Given the description of an element on the screen output the (x, y) to click on. 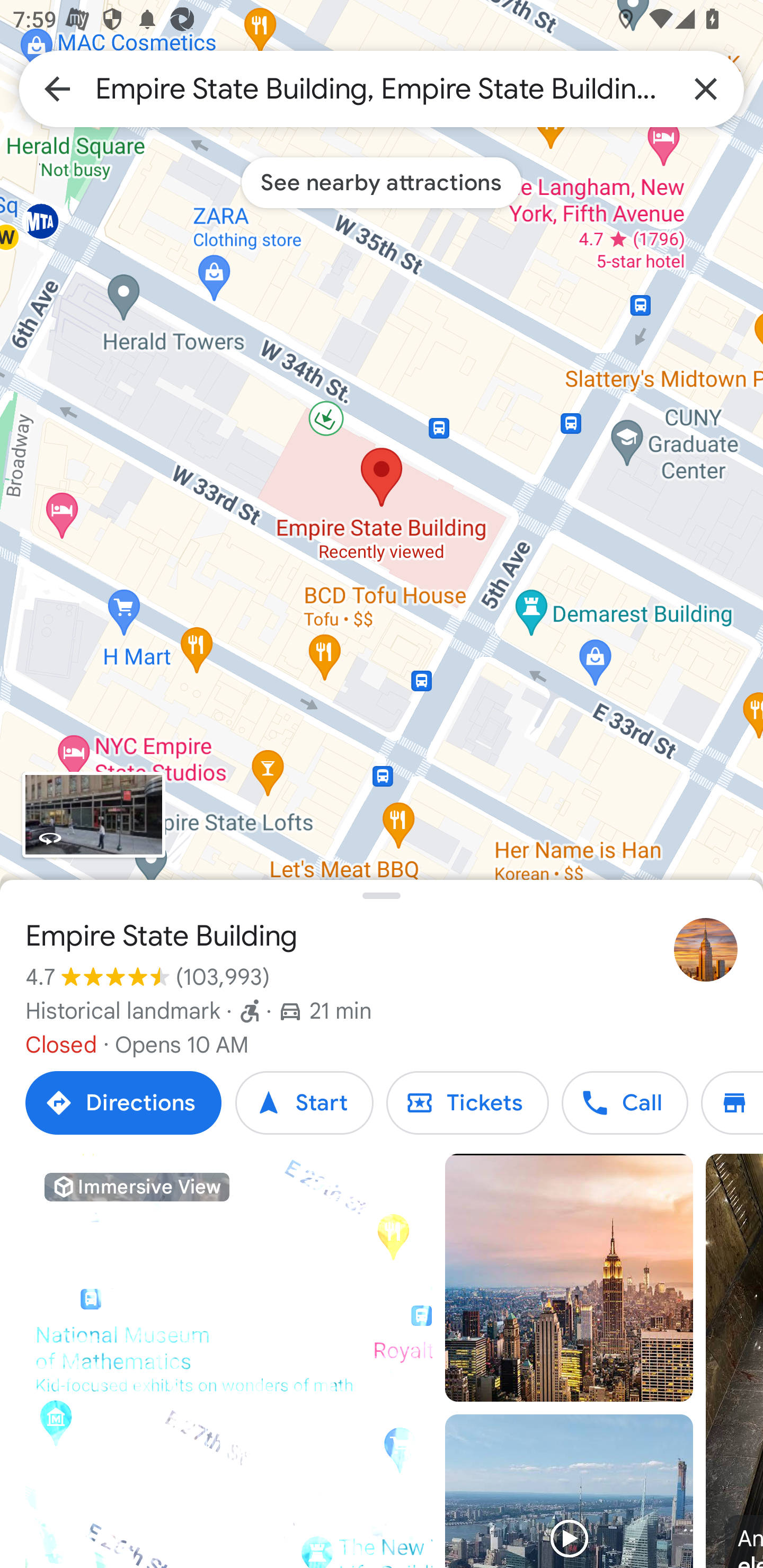
Back (57, 88)
Clear (705, 88)
See nearby attractions (381, 182)
View Street view imagery for Empire State Building (93, 814)
Start Start Start (304, 1102)
Tickets (467, 1102)
Video Immersive View (228, 1361)
Photo (568, 1277)
Video (568, 1491)
